Given the description of an element on the screen output the (x, y) to click on. 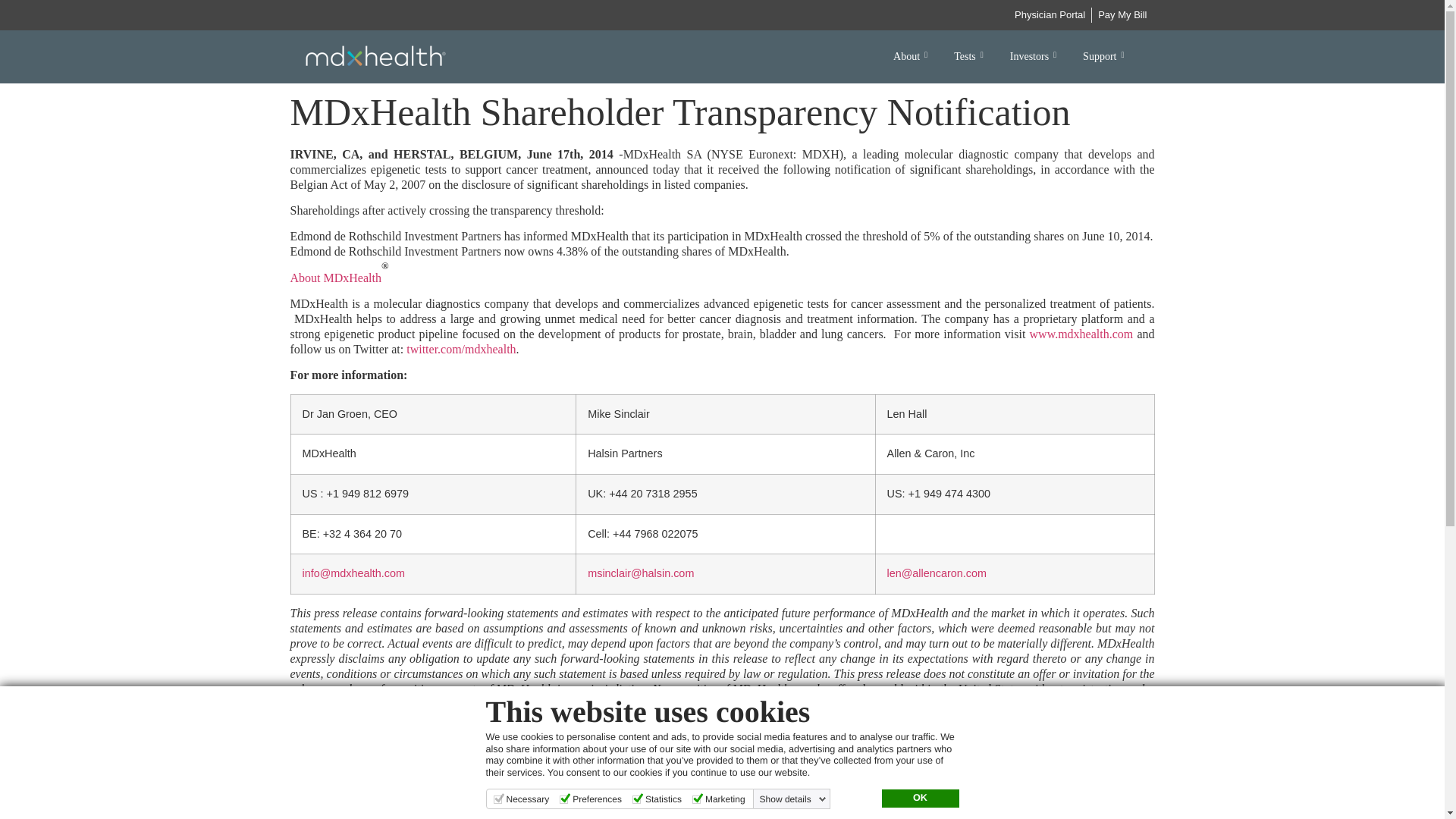
Show details (793, 799)
OK (919, 798)
